Given the description of an element on the screen output the (x, y) to click on. 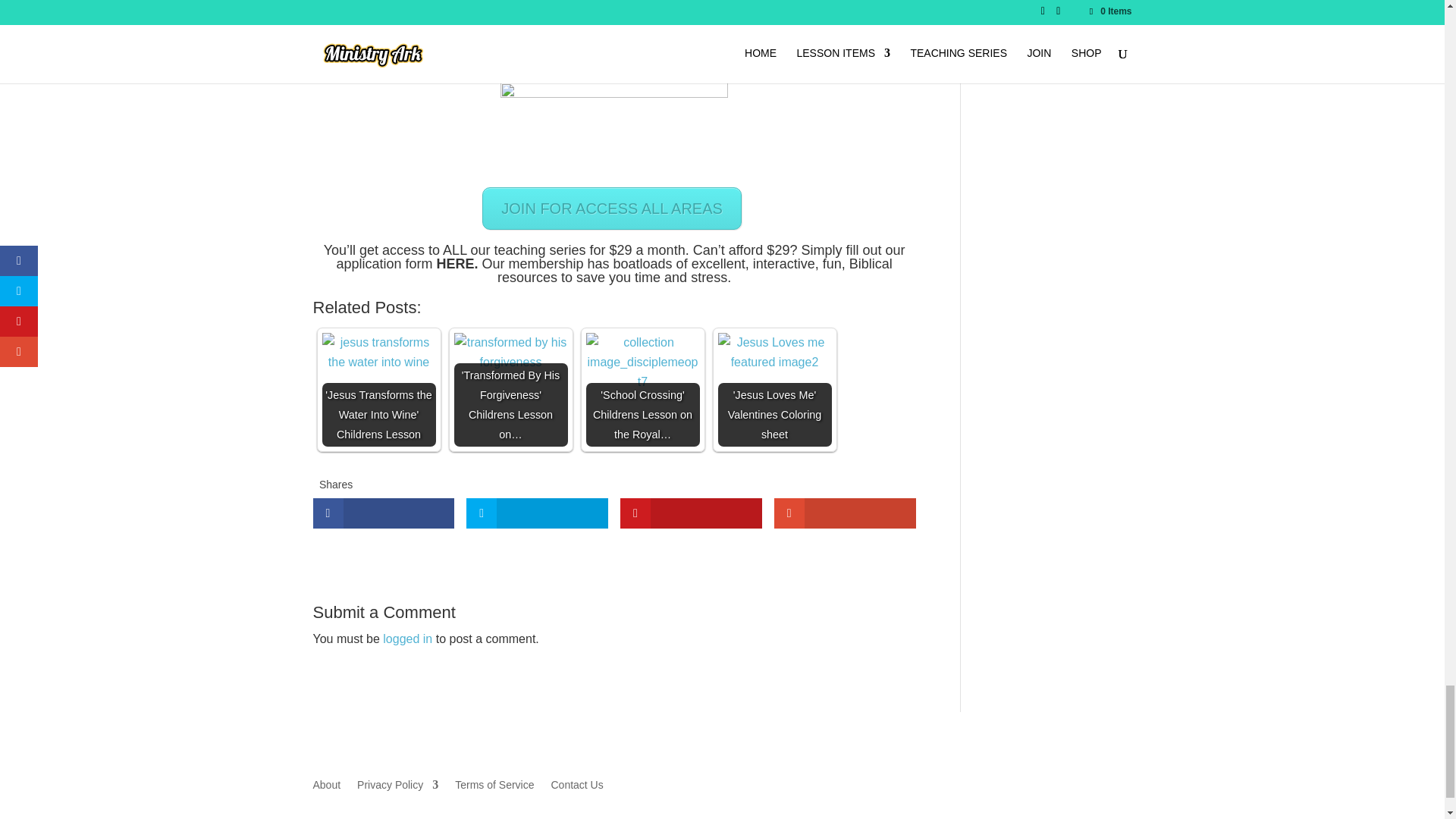
'Jesus Loves Me' Valentines Coloring sheet (774, 352)
'Jesus Transforms the Water Into Wine' Childrens Lesson (378, 352)
